Given the description of an element on the screen output the (x, y) to click on. 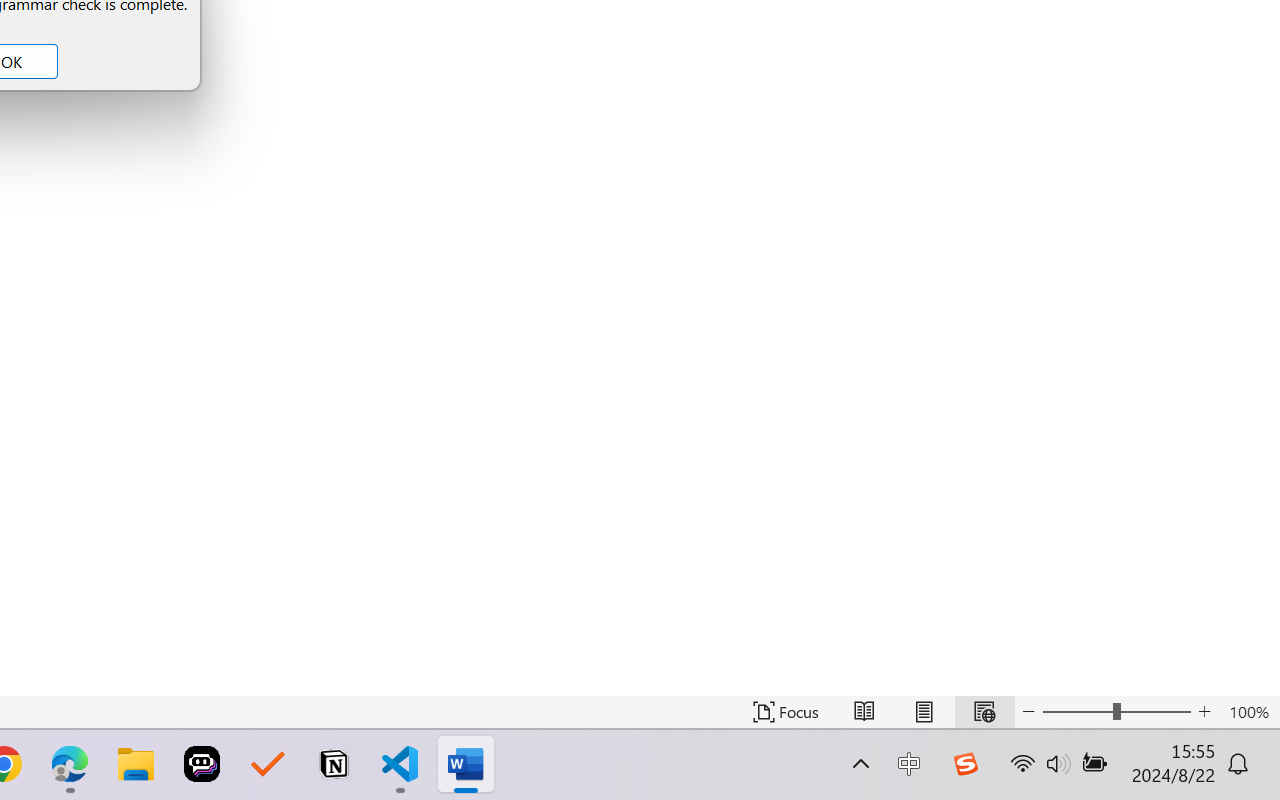
Web Layout (984, 712)
Zoom In (1204, 712)
Poe (201, 764)
Class: Image (965, 764)
